Given the description of an element on the screen output the (x, y) to click on. 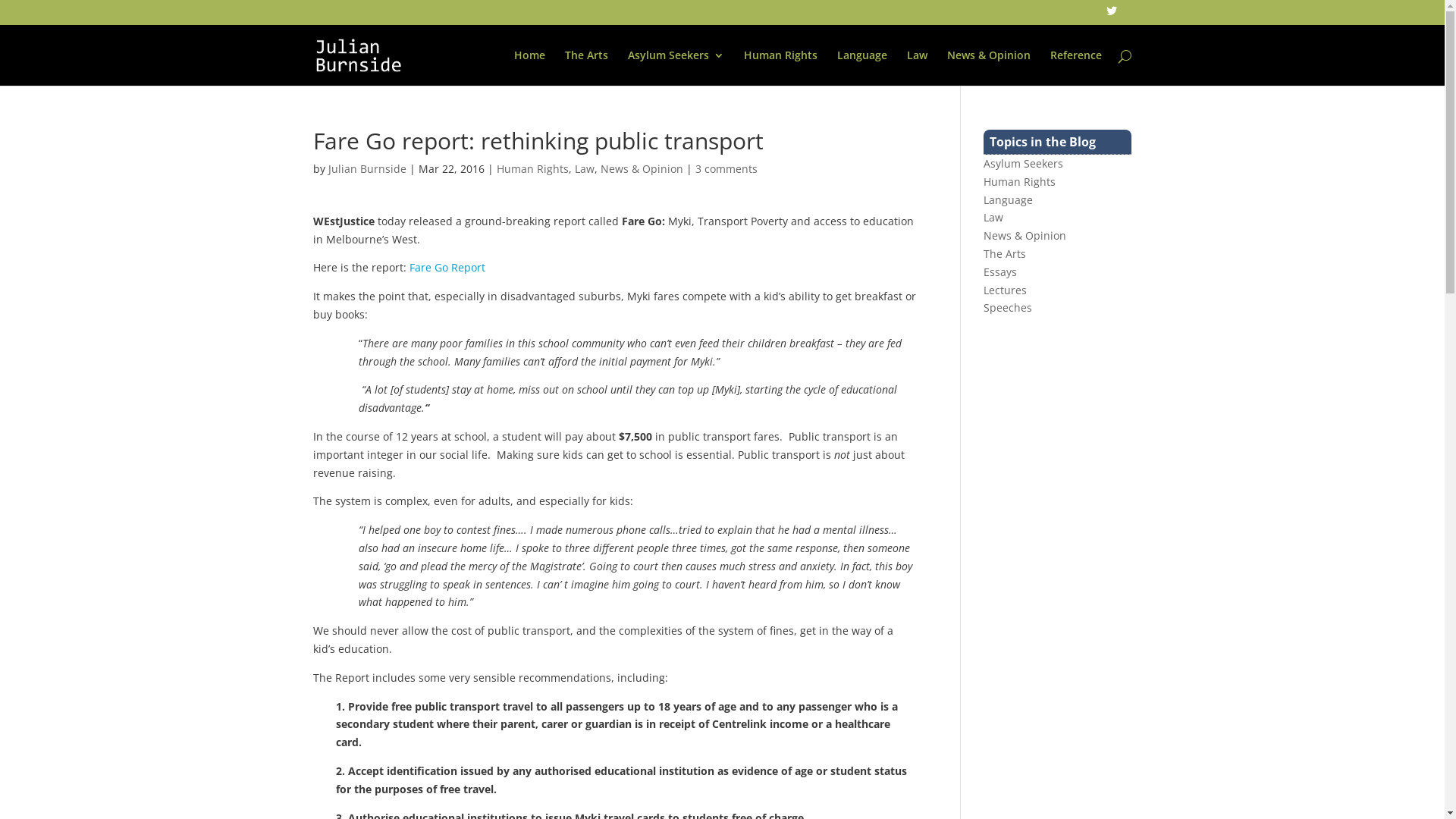
Home Element type: text (529, 67)
Essays Element type: text (999, 271)
Human Rights Element type: text (779, 67)
Reference Element type: text (1075, 67)
The Arts Element type: text (585, 67)
Law Element type: text (993, 217)
Language Element type: text (1007, 199)
Lectures Element type: text (1004, 289)
Fare Go Report Element type: text (447, 267)
News & Opinion Element type: text (1024, 235)
News & Opinion Element type: text (987, 67)
Asylum Seekers Element type: text (1023, 163)
3 comments Element type: text (725, 168)
News & Opinion Element type: text (641, 168)
Law Element type: text (584, 168)
Language Element type: text (862, 67)
Human Rights Element type: text (1019, 181)
Speeches Element type: text (1007, 307)
Human Rights Element type: text (531, 168)
Asylum Seekers Element type: text (675, 67)
Julian Burnside Element type: text (366, 168)
The Arts Element type: text (1004, 253)
Law Element type: text (916, 67)
